Given the description of an element on the screen output the (x, y) to click on. 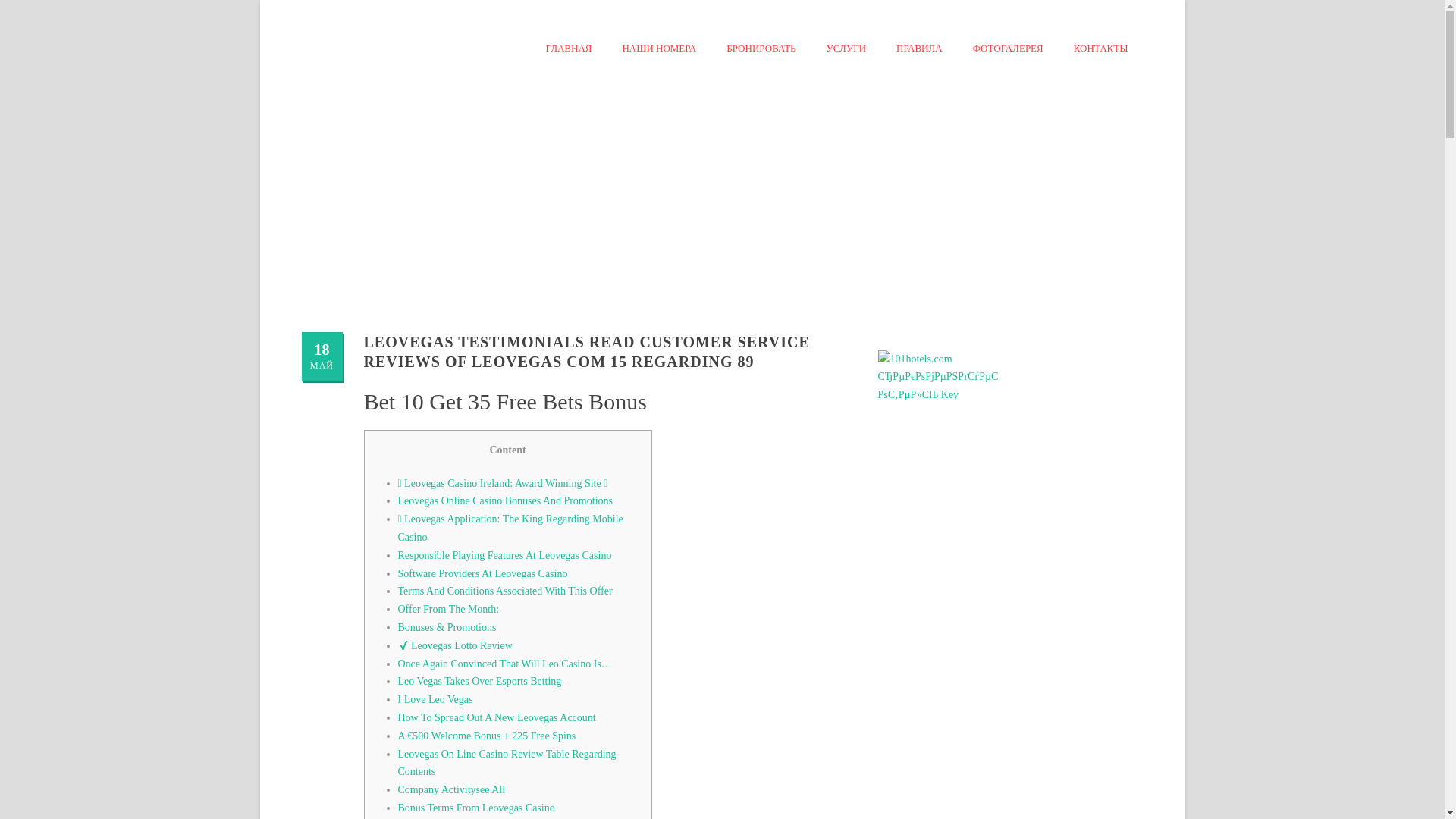
I Love Leo Vegas (434, 699)
How To Spread Out A New Leovegas Account (496, 717)
Leovegas On Line Casino Review Table Regarding Contents (506, 763)
Responsible Playing Features At Leovegas Casino (504, 555)
Leovegas Online Casino Bonuses And Promotions (504, 500)
Offer From The Month: (448, 609)
Leo Vegas Takes Over Esports Betting (478, 681)
Terms And Conditions Associated With This Offer (504, 591)
Software Providers At Leovegas Casino (482, 573)
Company Activitysee All (451, 789)
Bonus Terms From Leovegas Casino (475, 808)
